Given the description of an element on the screen output the (x, y) to click on. 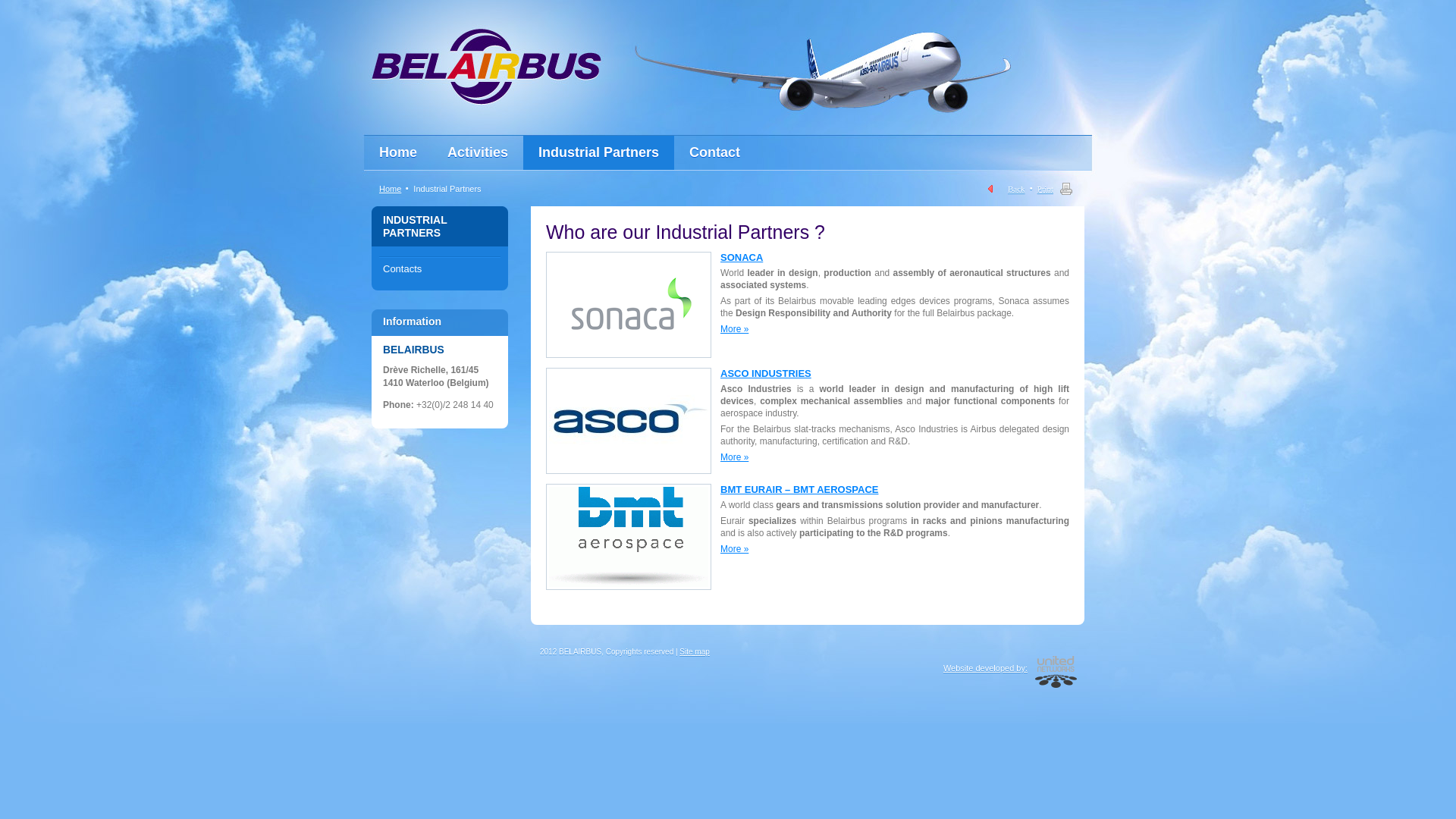
Home Element type: text (390, 188)
Belairbus Element type: hover (486, 66)
Back Element type: text (1006, 188)
INDUSTRIAL PARTNERS Element type: text (414, 225)
Website developed by: Element type: text (989, 663)
ASCO INDUSTRIES Element type: hover (628, 420)
ASCO INDUSTRIES Element type: text (765, 373)
Industrial Partners Element type: text (446, 188)
Print Element type: text (1050, 188)
SONACA Element type: text (741, 257)
Industrial Partners Element type: text (598, 152)
Activities Element type: text (477, 152)
Home Element type: text (398, 152)
Contact Element type: text (714, 152)
Site map Element type: text (694, 651)
United Networks Element type: text (1055, 671)
SONACA Element type: hover (628, 304)
Contacts Element type: text (439, 268)
